Given the description of an element on the screen output the (x, y) to click on. 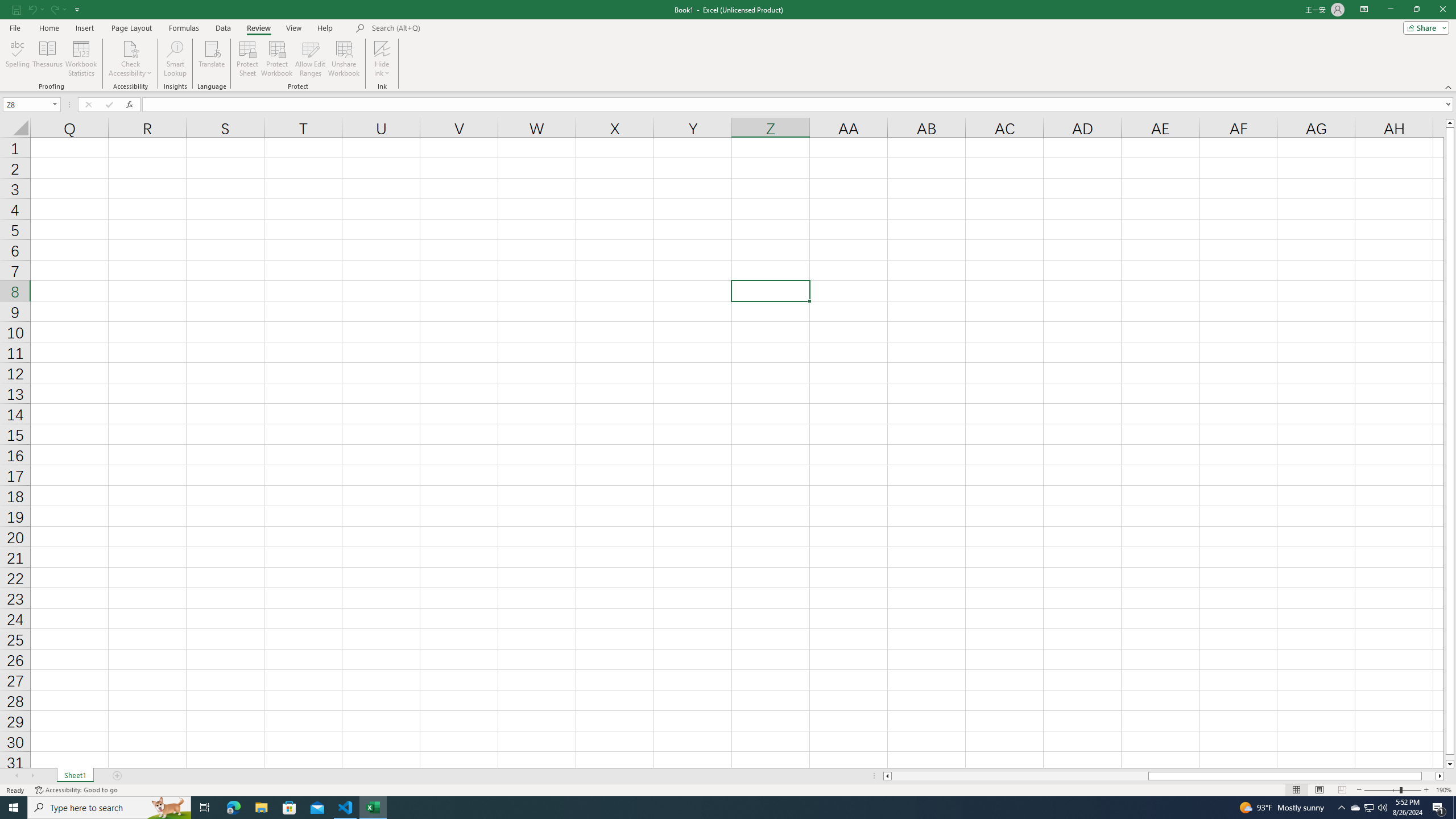
Spelling... (17, 58)
